Given the description of an element on the screen output the (x, y) to click on. 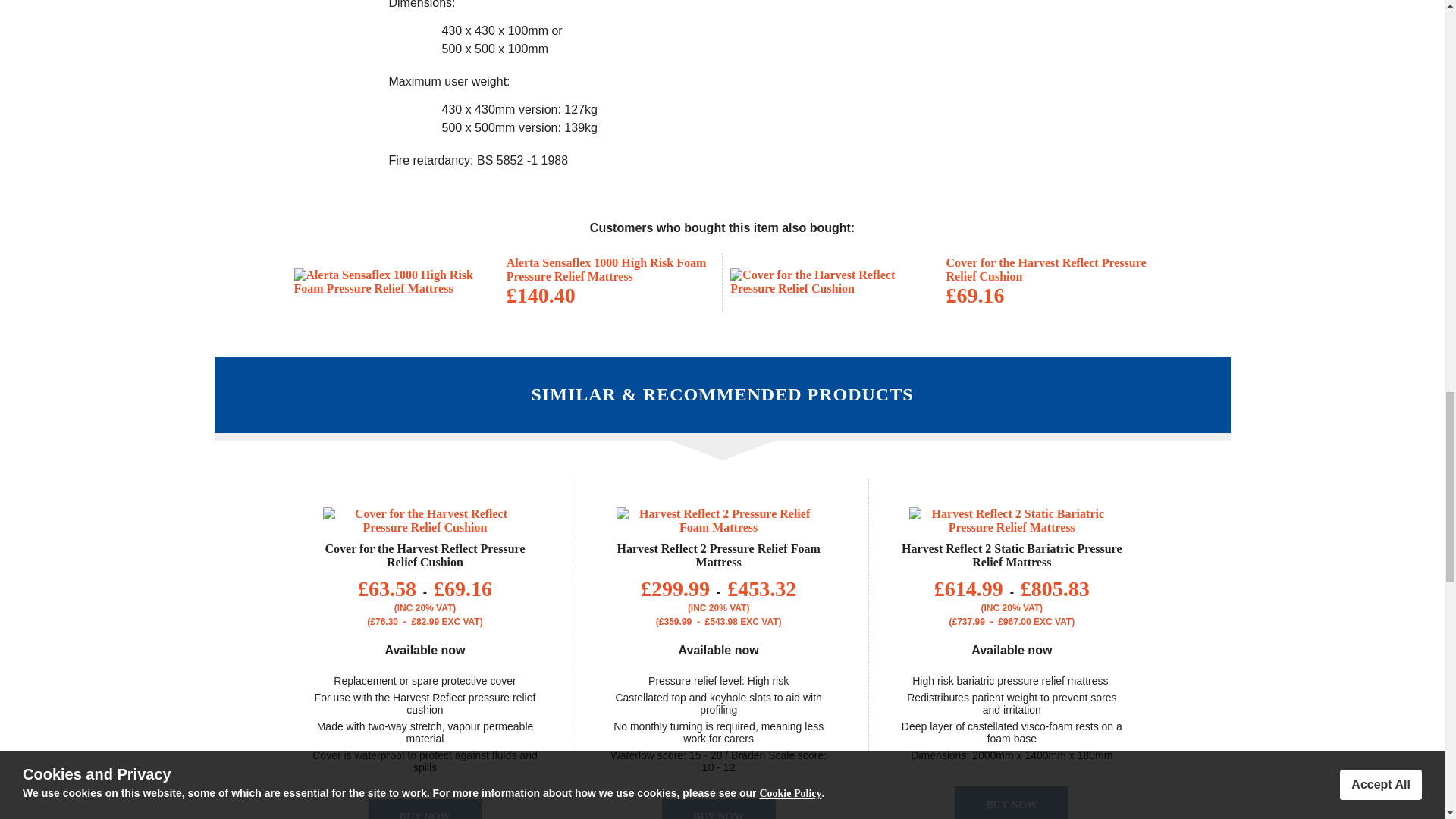
Harvest Reflect 2 Pressure Relief Foam Mattress (719, 555)
BUY NOW (719, 808)
Harvest Reflect 2 Static Bariatric Pressure Relief Mattress (1011, 555)
BUY NOW (424, 808)
Cover for the Harvest Reflect Pressure Relief Cushion (424, 555)
Cover for the Harvest Reflect Pressure Relief Cushion (1046, 269)
BUY NOW (1011, 802)
